Given the description of an element on the screen output the (x, y) to click on. 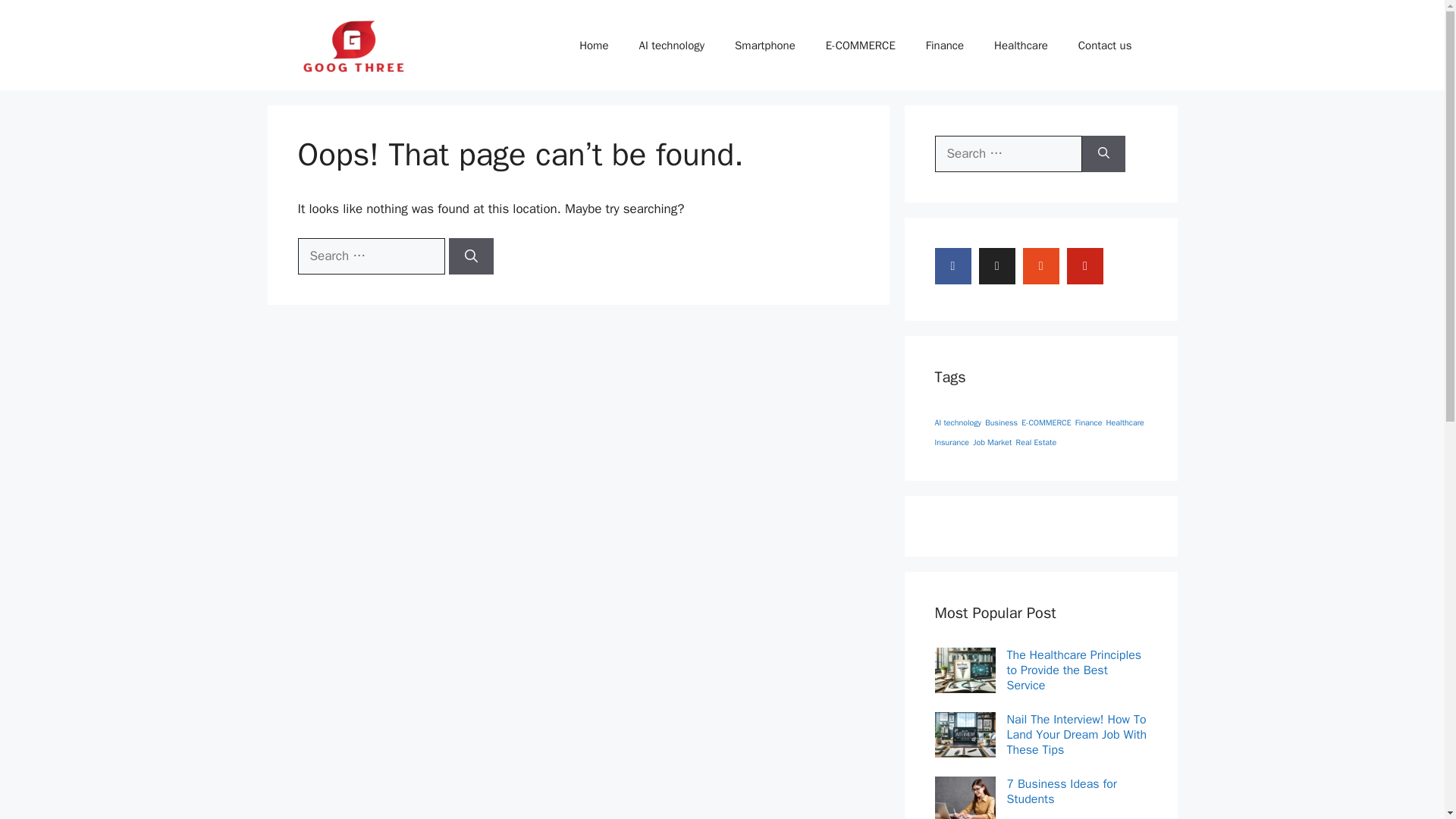
AI technology (957, 422)
Healthcare (1125, 422)
E-COMMERCE (860, 44)
Finance (944, 44)
Pinterest (1085, 265)
Business (1001, 422)
AI technology (671, 44)
twitter (996, 265)
Search for: (370, 256)
Facebook (952, 265)
